Given the description of an element on the screen output the (x, y) to click on. 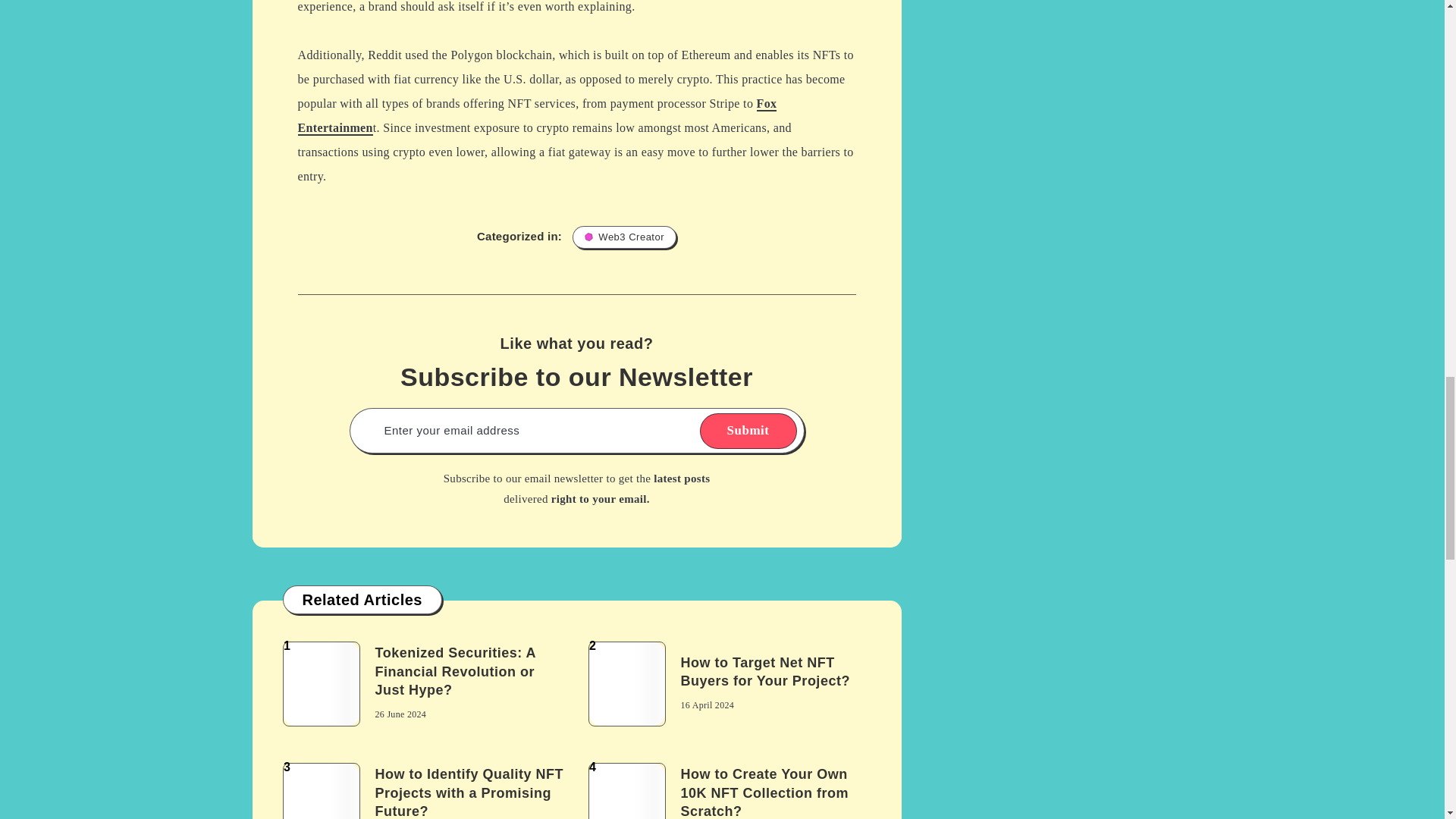
Submit (748, 430)
Fox Entertainmen (536, 116)
Web3 Creator (624, 237)
